Given the description of an element on the screen output the (x, y) to click on. 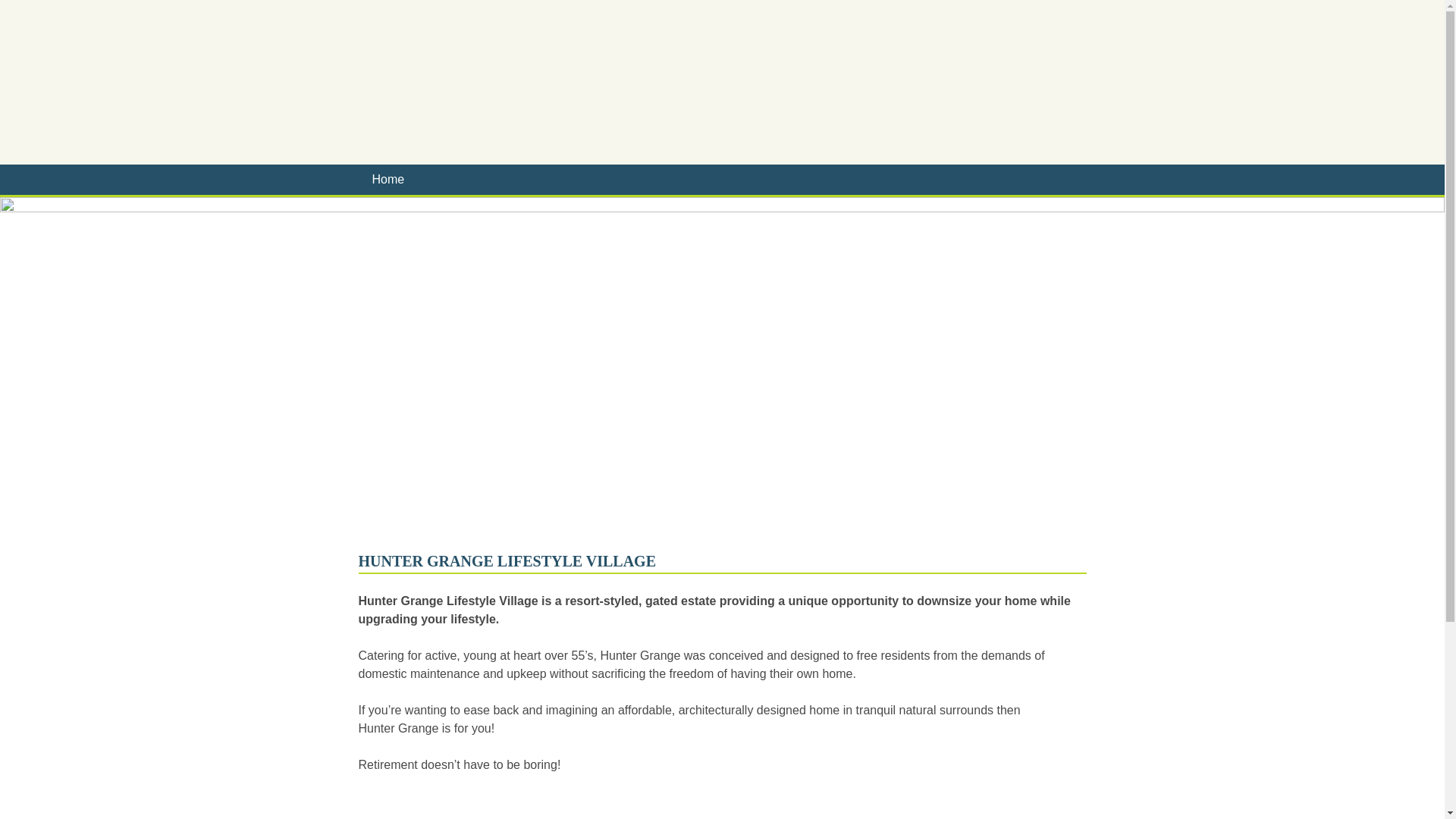
Home Element type: text (387, 178)
Hunter Grange Element type: text (721, 79)
